Given the description of an element on the screen output the (x, y) to click on. 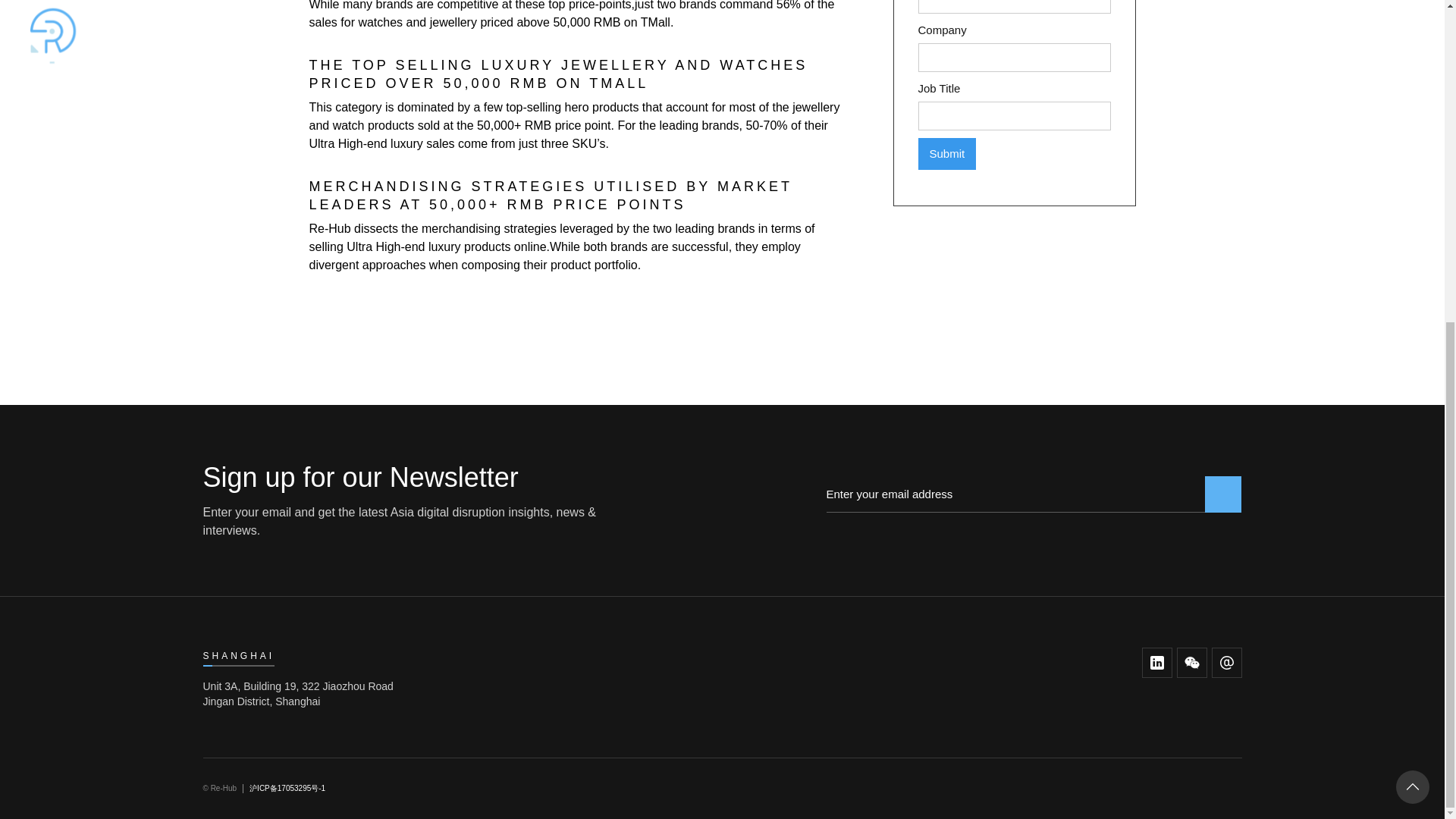
SHANGHAI (239, 655)
Submit (946, 153)
Submit (946, 153)
